Given the description of an element on the screen output the (x, y) to click on. 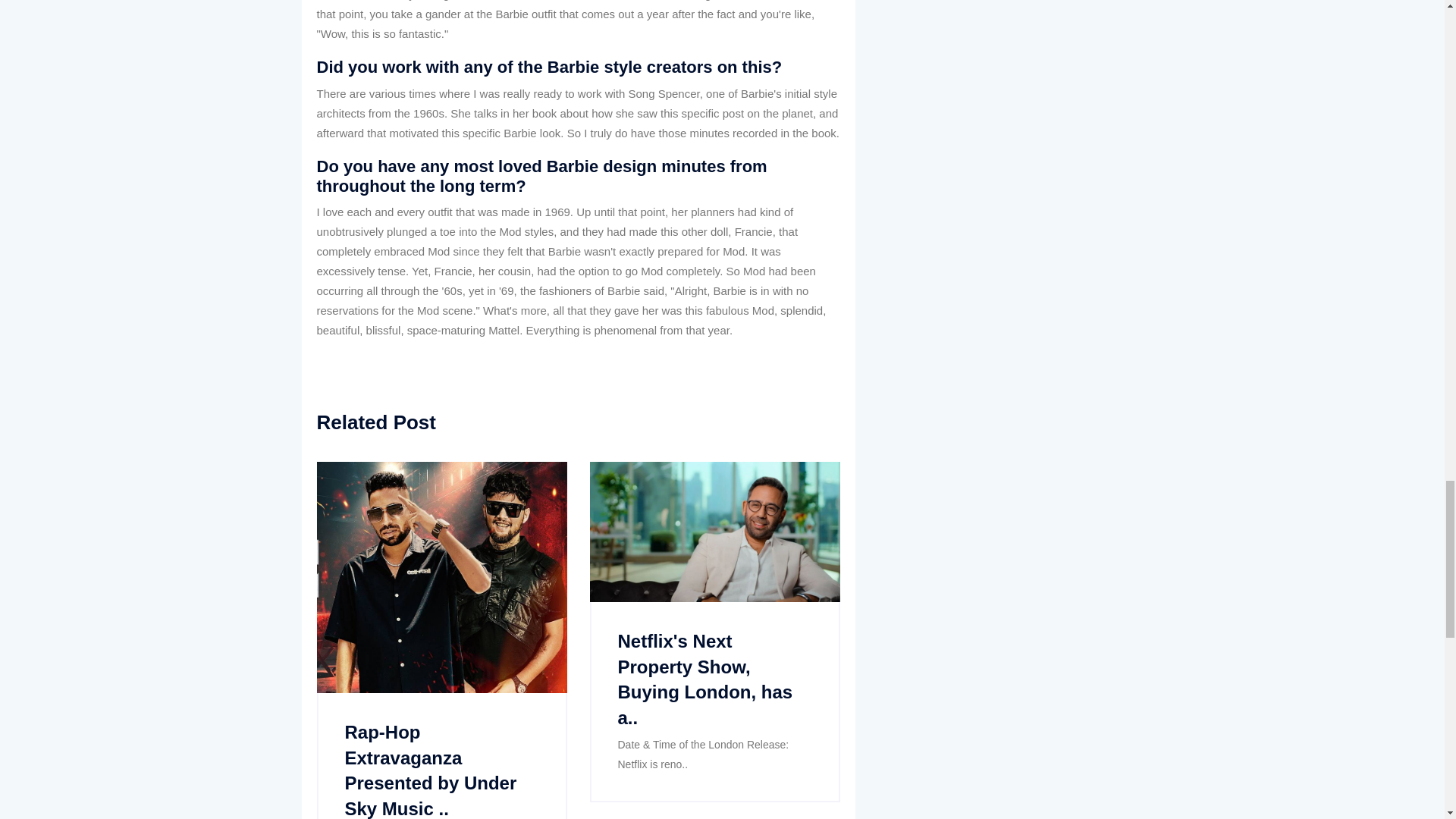
Rap-Hop Extravaganza Presented by Under Sky Music .. (429, 770)
Netflix's Next Property Show, Buying London, has a.. (704, 679)
